Given the description of an element on the screen output the (x, y) to click on. 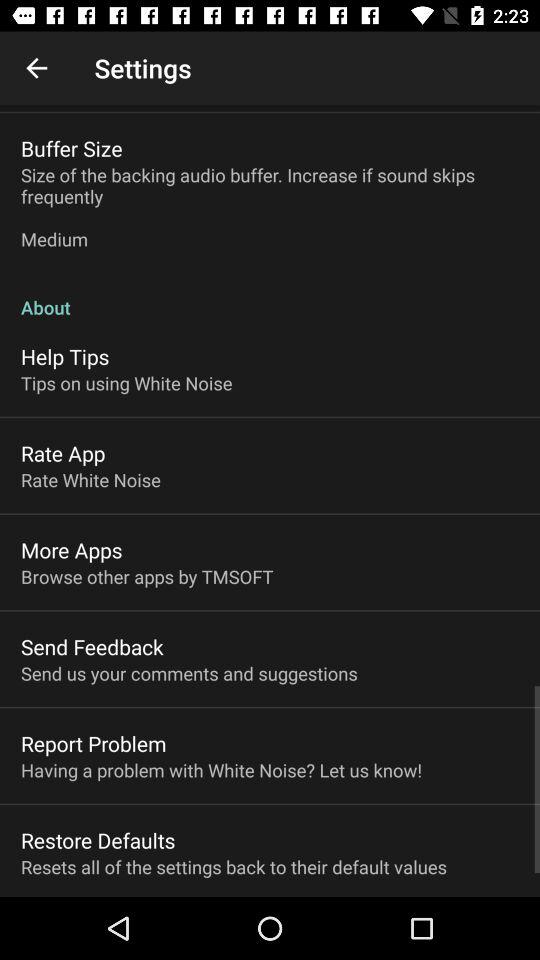
tap the icon above the tips on using (65, 356)
